Given the description of an element on the screen output the (x, y) to click on. 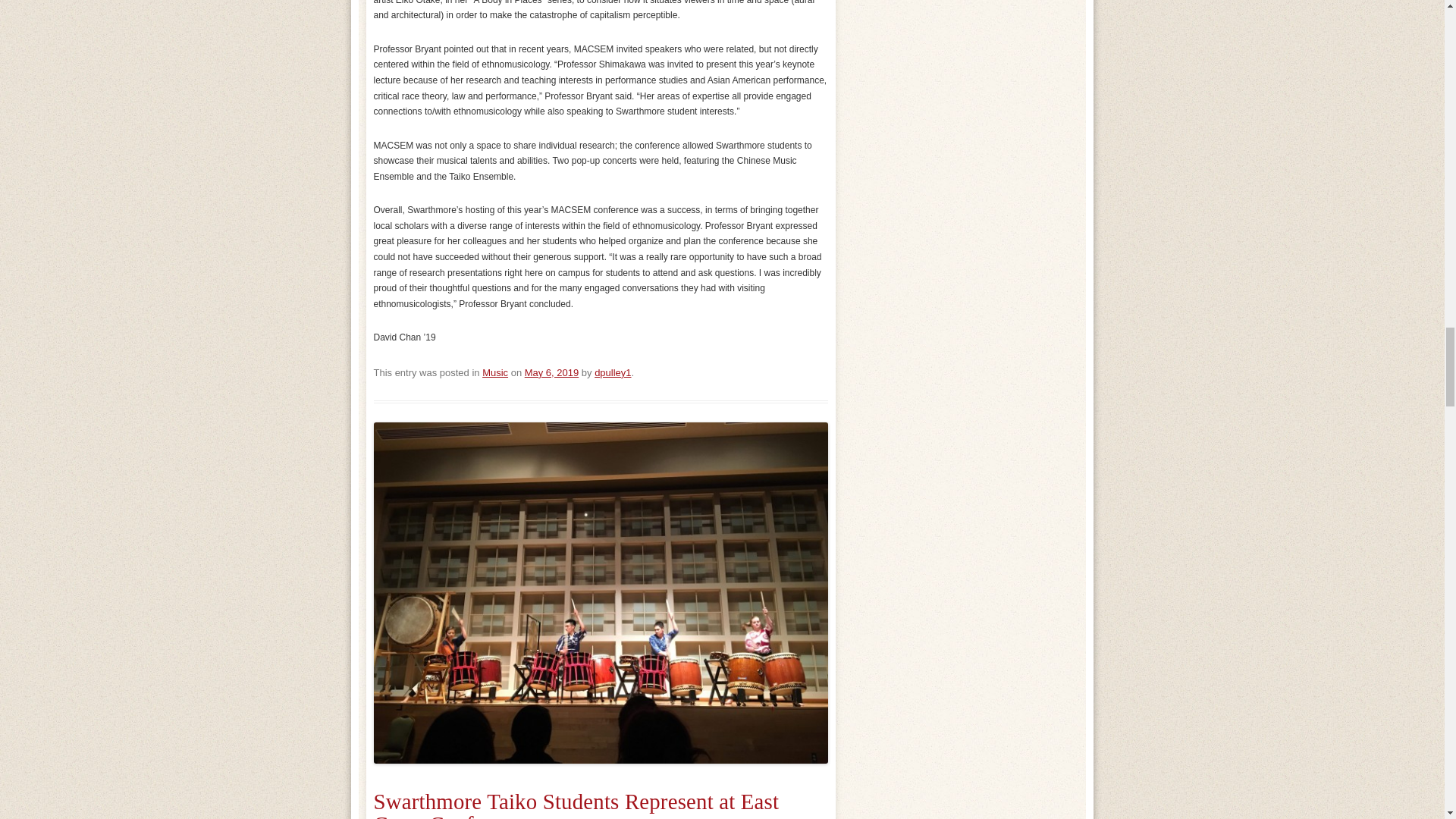
Swarthmore Taiko Students Represent at East Coast Conference (575, 804)
dpulley1 (612, 372)
12:00 pm (551, 372)
View all posts by dpulley1 (612, 372)
Music (494, 372)
May 6, 2019 (551, 372)
